Given the description of an element on the screen output the (x, y) to click on. 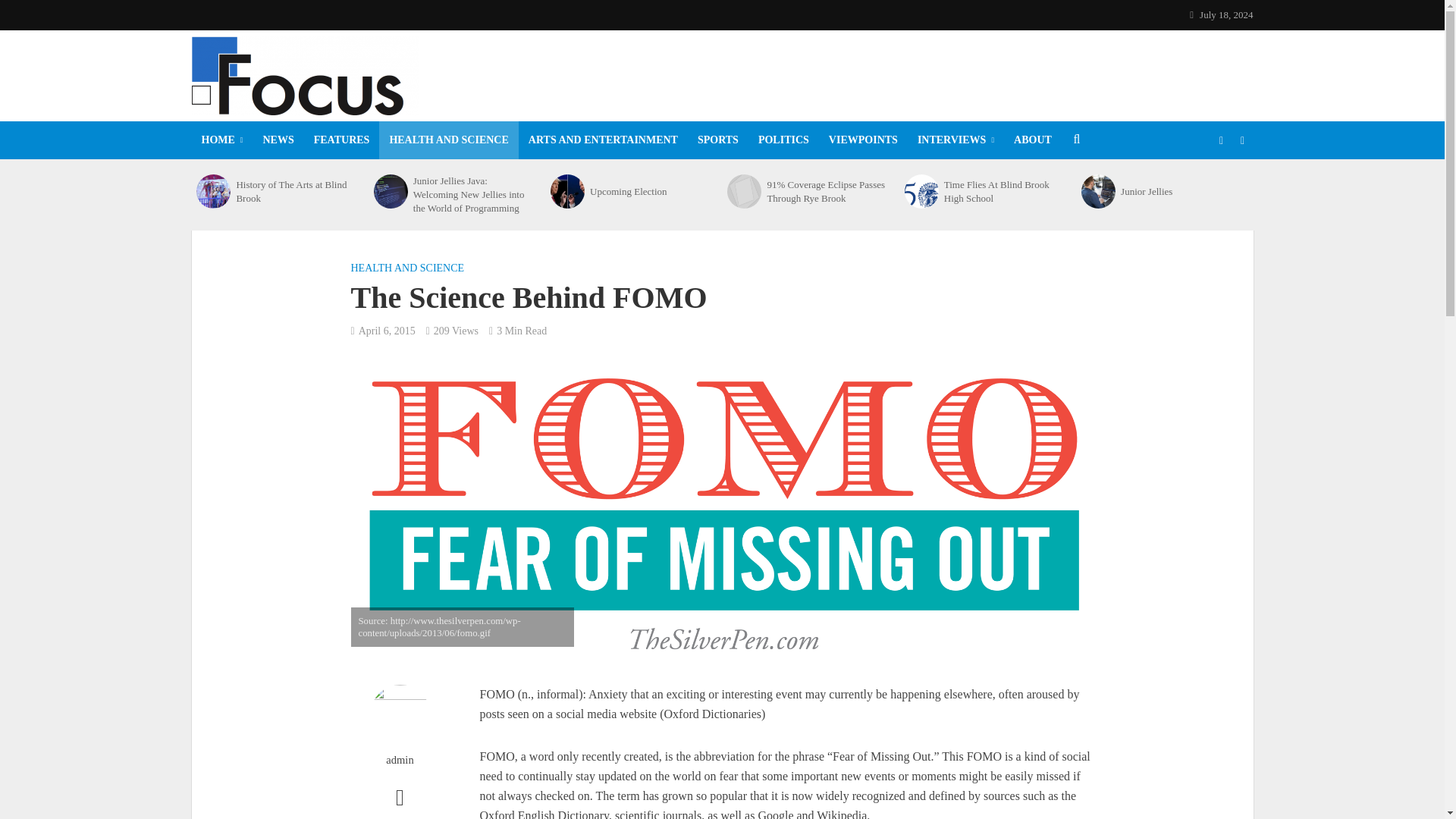
ABOUT (1032, 139)
INTERVIEWS (955, 139)
History of The Arts at Blind Brook (295, 190)
HOME (220, 139)
POLITICS (783, 139)
FEATURES (342, 139)
Junior Jellies (1098, 191)
Time Flies At Blind Brook High School (921, 191)
SPORTS (717, 139)
Junior Jellies (1181, 192)
VIEWPOINTS (862, 139)
ARTS AND ENTERTAINMENT (602, 139)
NEWS (278, 139)
HEALTH AND SCIENCE (448, 139)
